Given the description of an element on the screen output the (x, y) to click on. 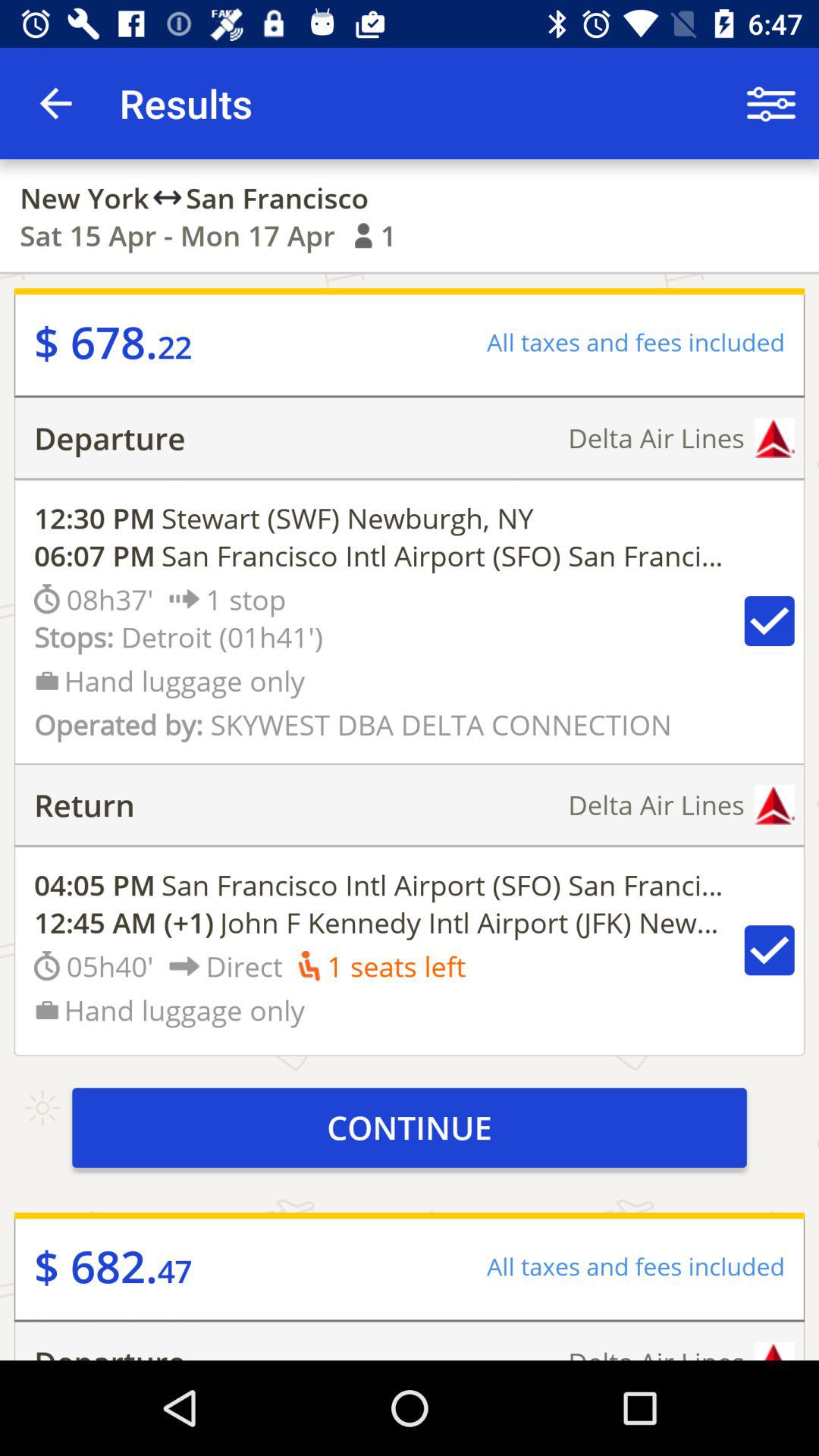
select the icon which is left to direct (184, 965)
